Given the description of an element on the screen output the (x, y) to click on. 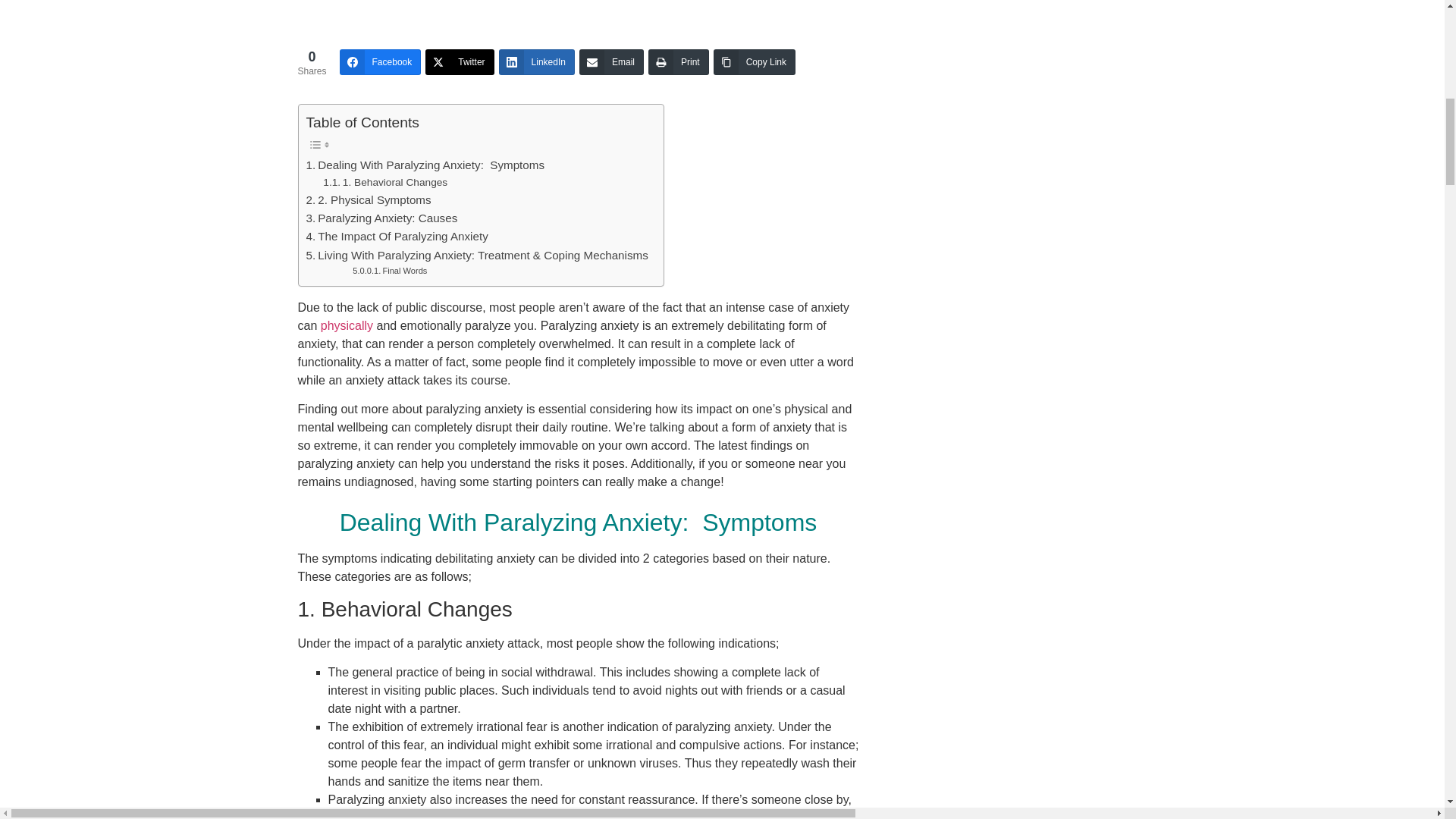
Print (678, 62)
physically (346, 325)
The Impact Of Paralyzing Anxiety (396, 236)
Copy Link (753, 62)
Email (611, 62)
Twitter (459, 62)
The Impact Of Paralyzing Anxiety (396, 236)
2. Physical Symptoms (367, 199)
Dealing With Paralyzing Anxiety:  Symptoms (424, 165)
1. Behavioral Changes (384, 182)
